Given the description of an element on the screen output the (x, y) to click on. 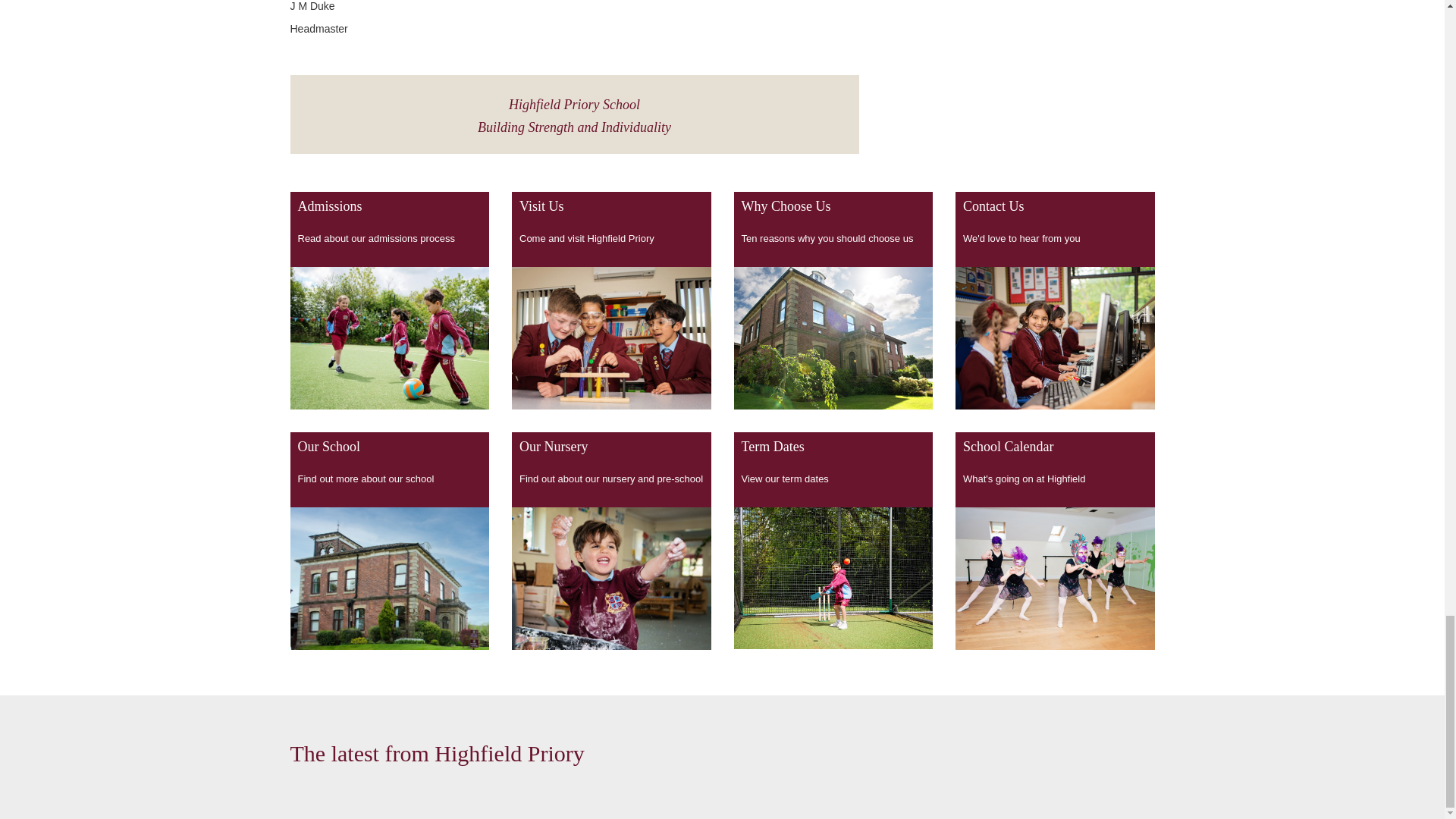
Admissions  (389, 337)
Contact Us  (1054, 300)
Contact Us  (1054, 337)
Why Choose Us  (833, 300)
Visit Us  (611, 299)
Why Choose Us  (833, 337)
Visit Us  (611, 337)
Admissions  (389, 300)
